Given the description of an element on the screen output the (x, y) to click on. 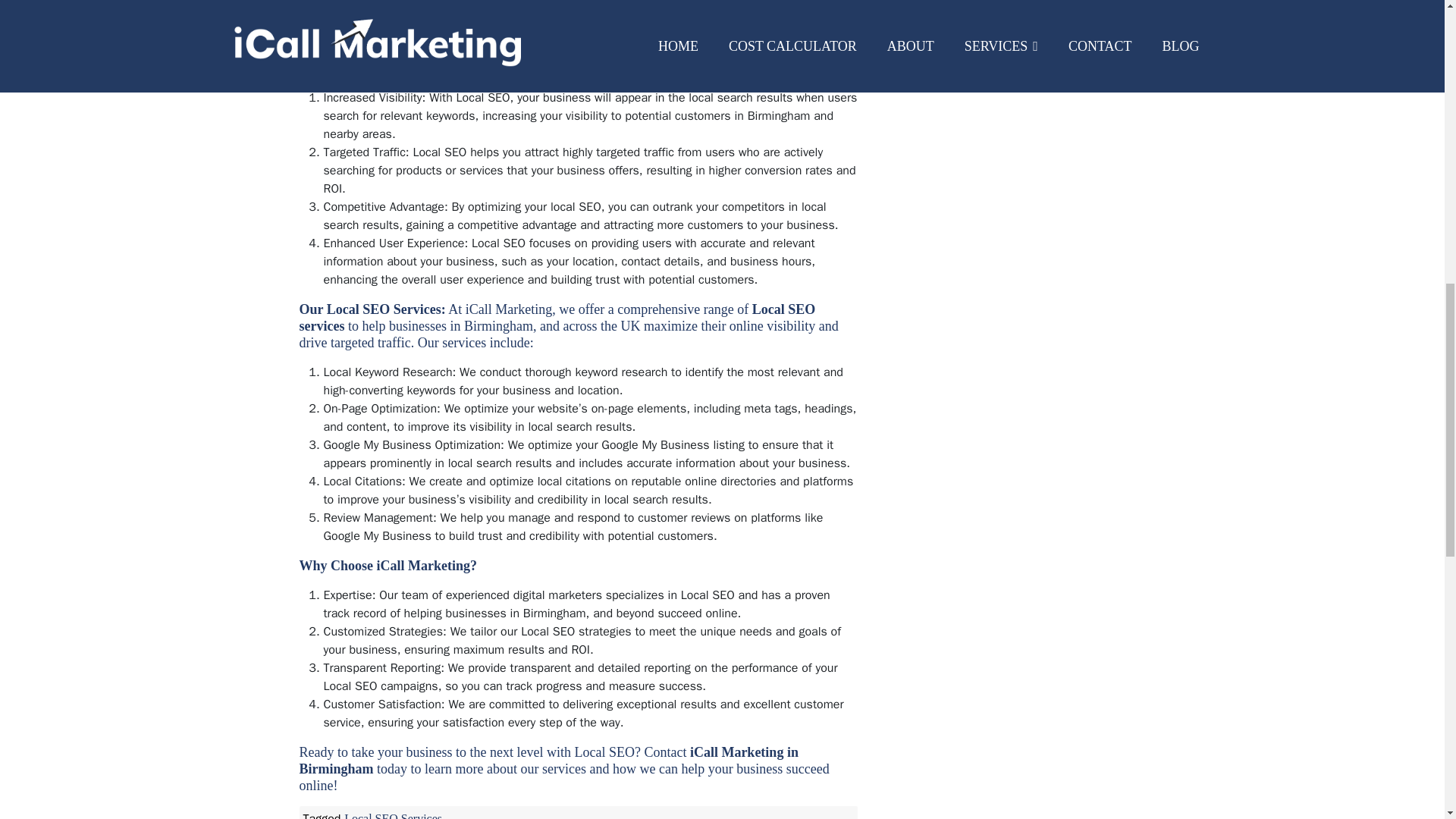
Local SEO services (556, 317)
Local SEO Services (392, 815)
iCall Marketing in Birmingham (547, 760)
